Given the description of an element on the screen output the (x, y) to click on. 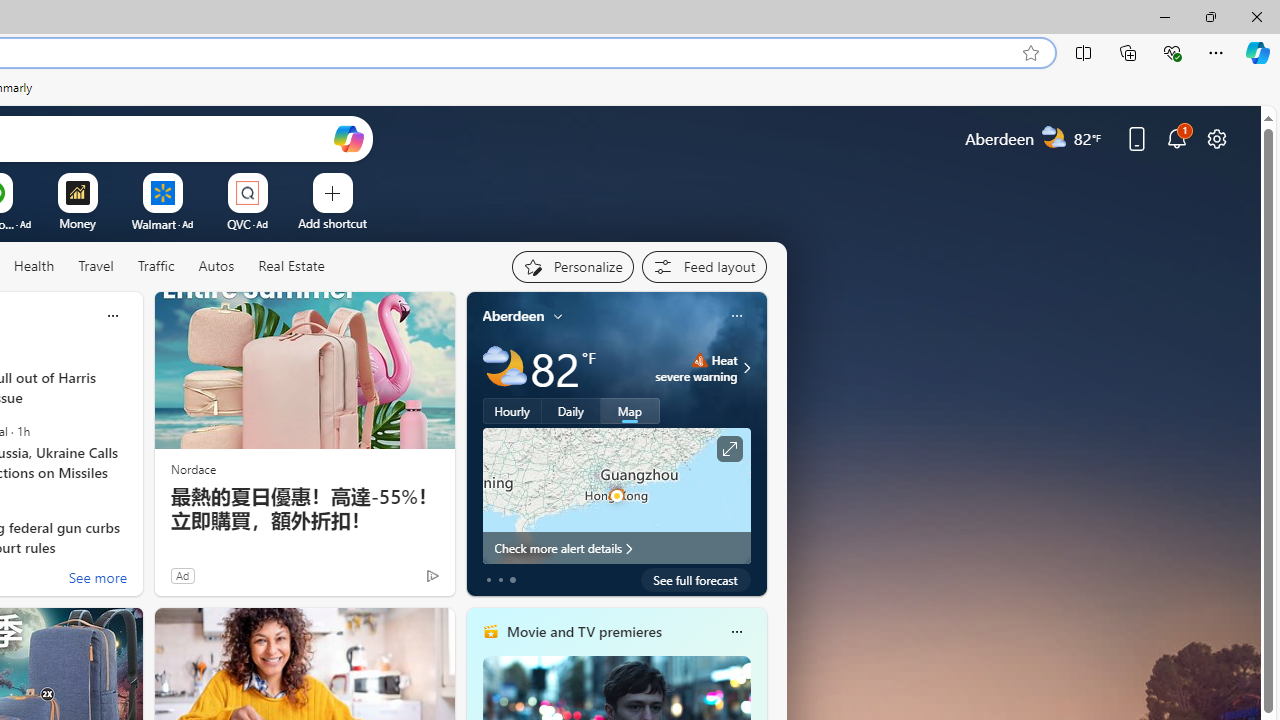
Click to see more information (728, 449)
You're following MSNBC (390, 579)
My location (558, 315)
Check more alert details (616, 547)
